Given the description of an element on the screen output the (x, y) to click on. 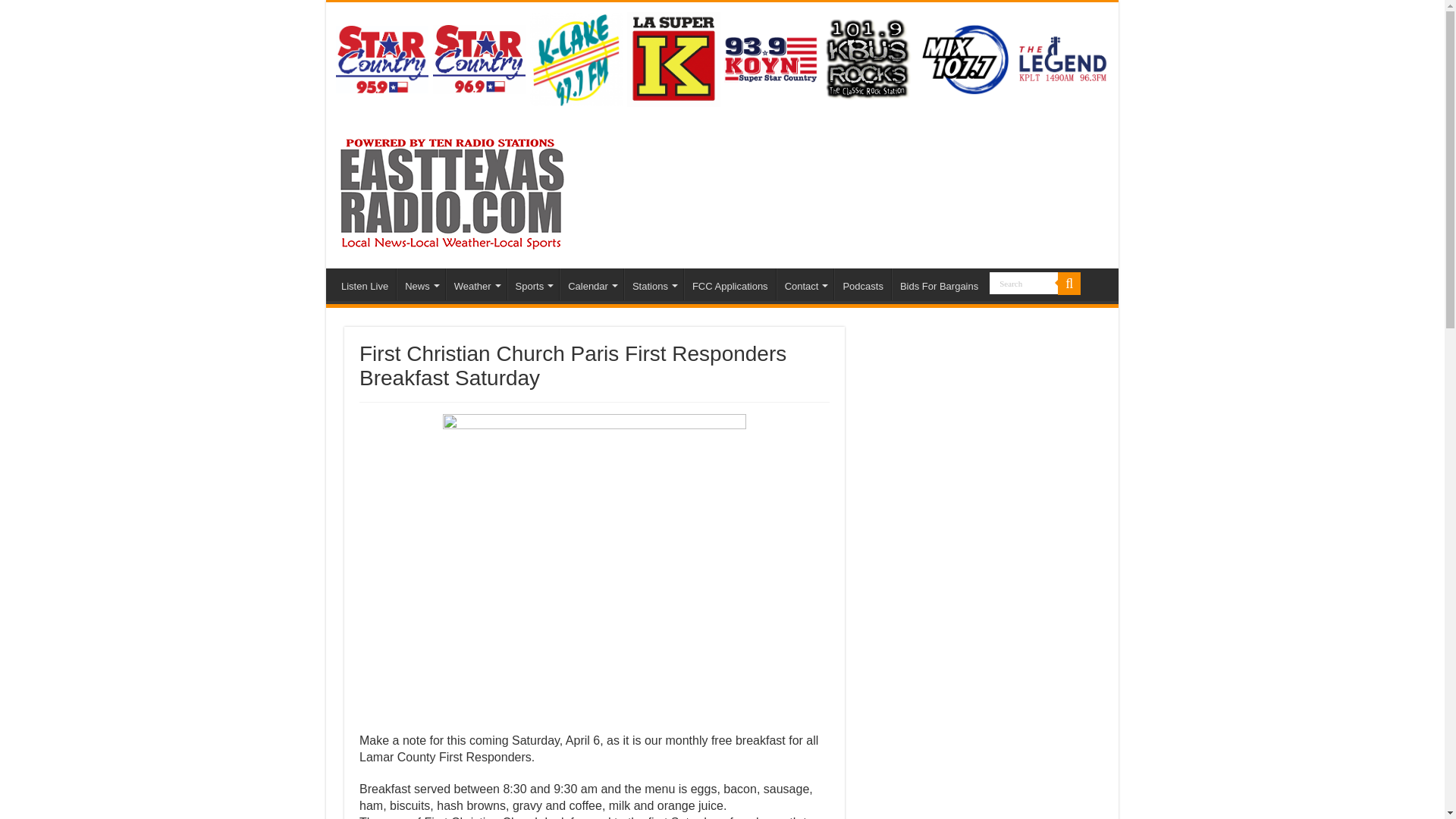
EastTexasRadio.com (450, 189)
Search (1024, 282)
Search (1024, 282)
Listen Live (364, 284)
News (420, 284)
Weather (475, 284)
Search (1024, 282)
